Given the description of an element on the screen output the (x, y) to click on. 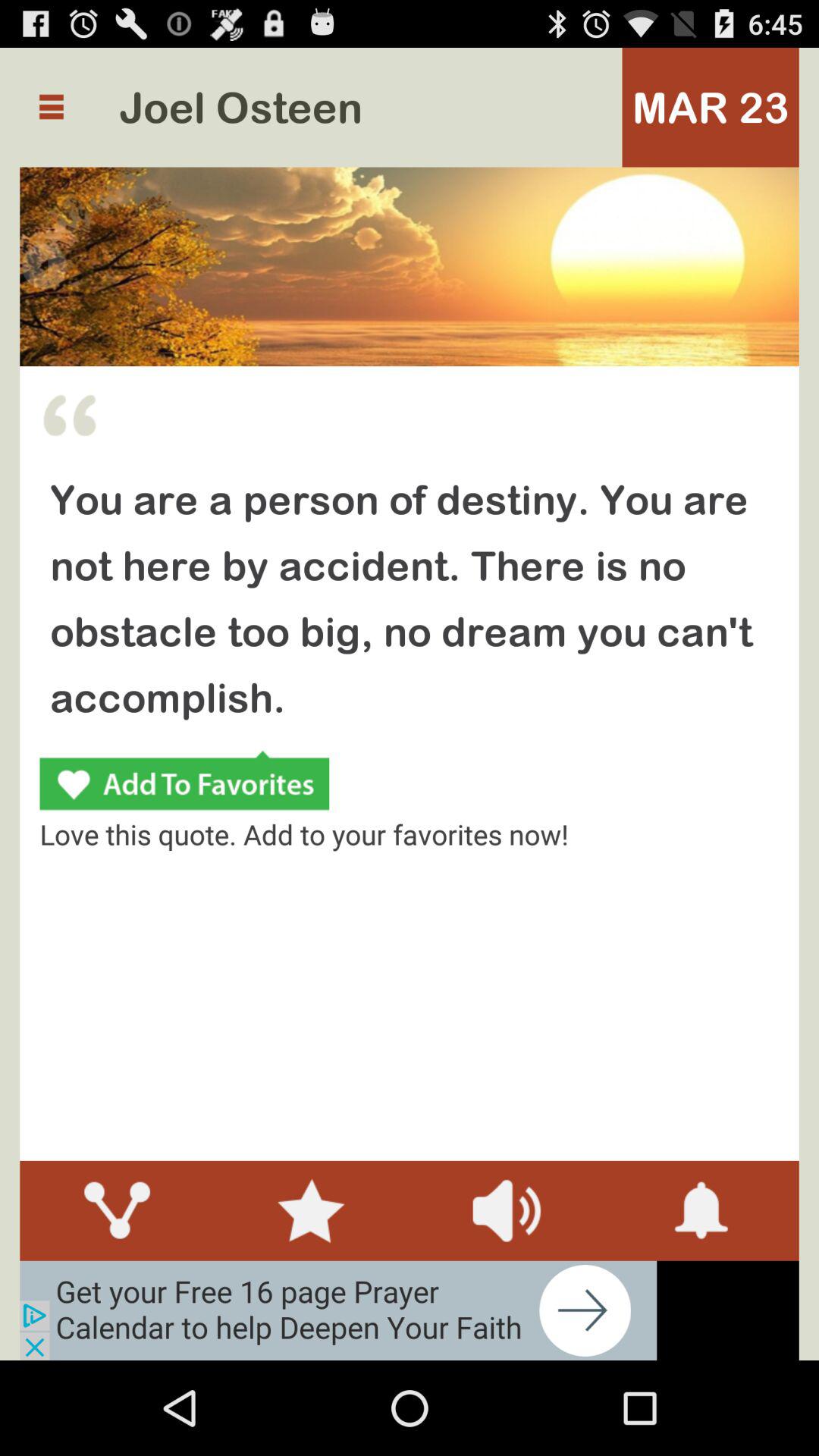
add quote to favorites (184, 782)
